Given the description of an element on the screen output the (x, y) to click on. 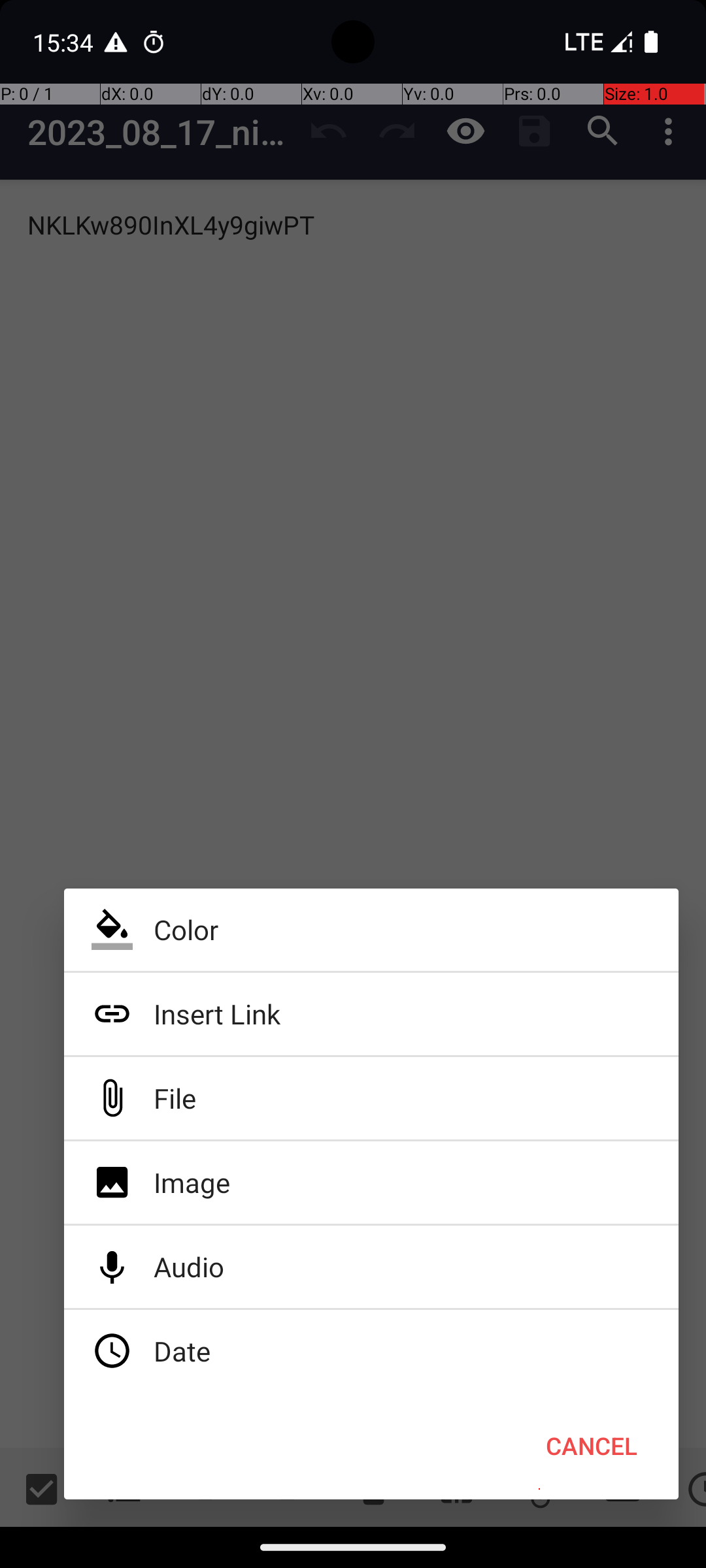
Color Element type: android.widget.TextView (371, 929)
Insert Link Element type: android.widget.TextView (371, 1013)
File Element type: android.widget.TextView (371, 1098)
Image Element type: android.widget.TextView (371, 1182)
